Given the description of an element on the screen output the (x, y) to click on. 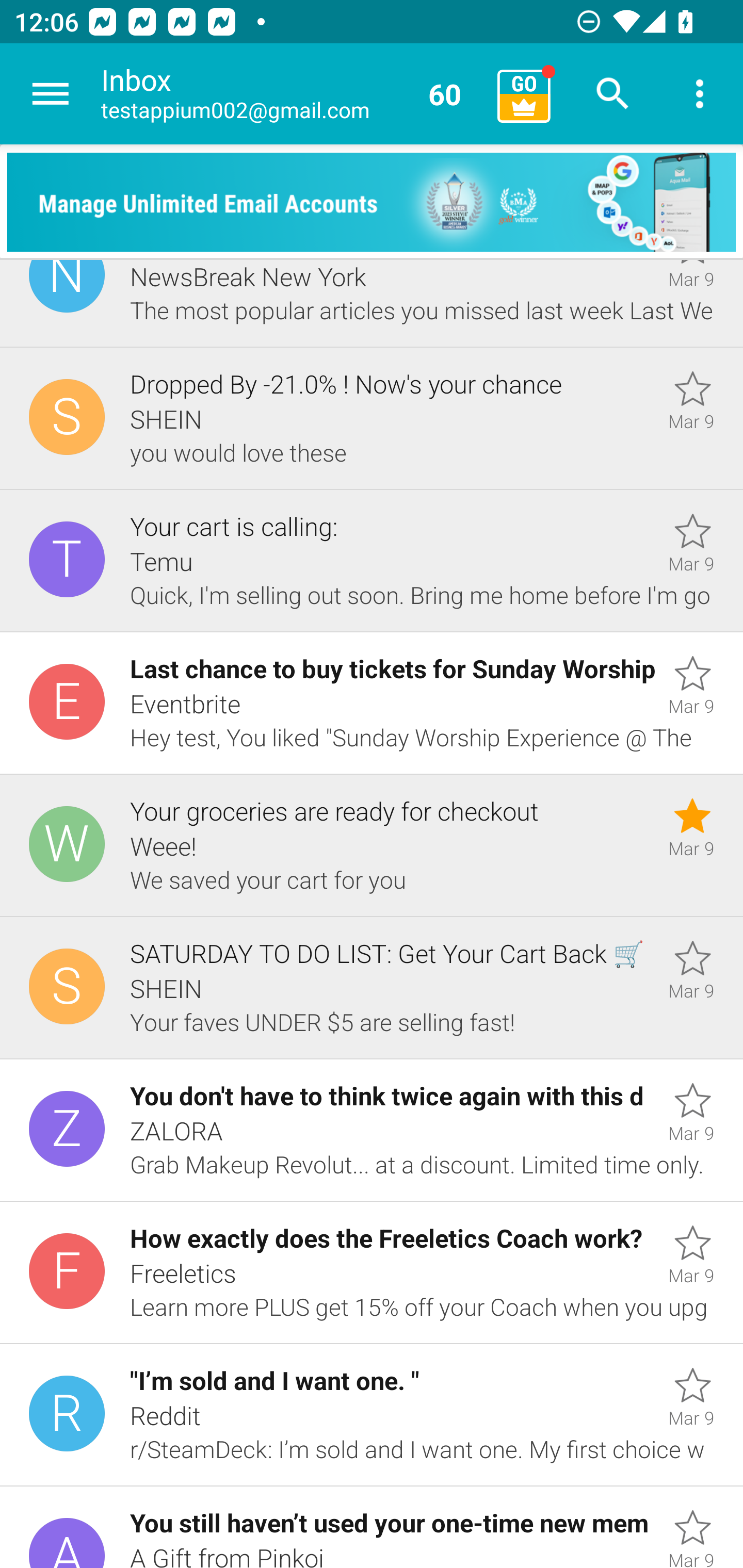
Navigate up (50, 93)
Inbox testappium002@gmail.com 60 (291, 93)
Search (612, 93)
More options (699, 93)
